Given the description of an element on the screen output the (x, y) to click on. 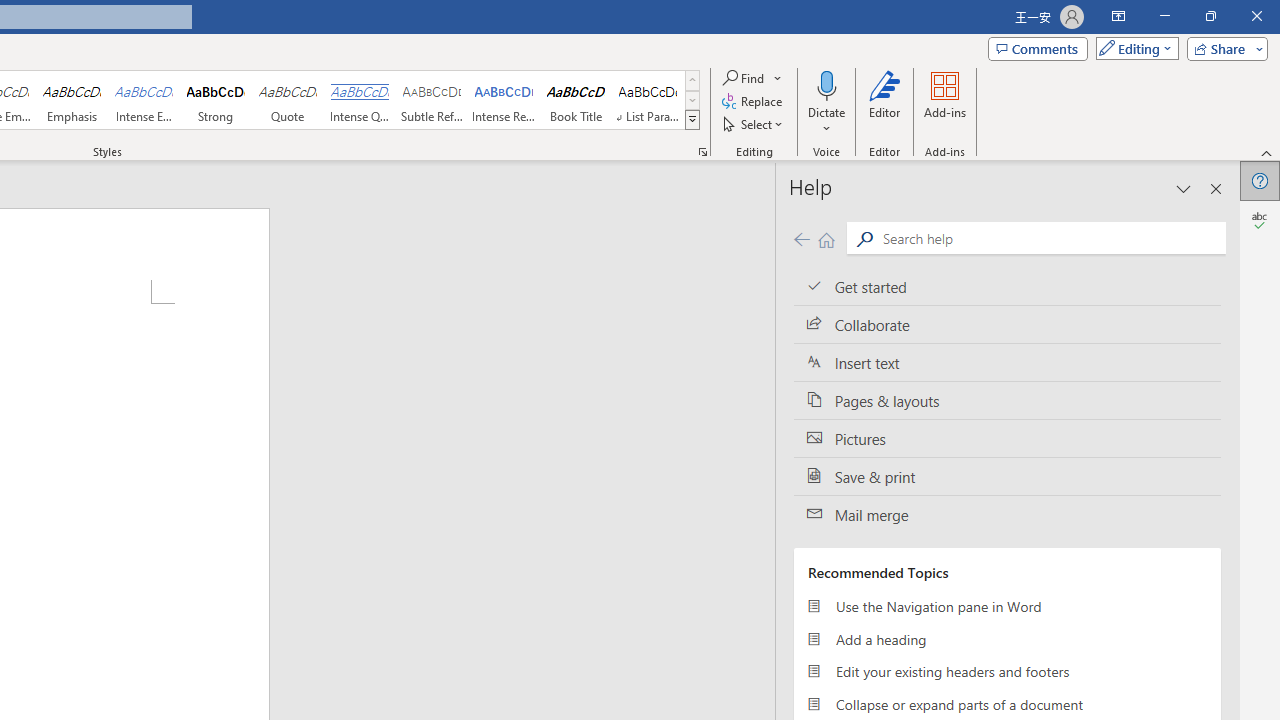
Quote (287, 100)
Collaborate (1007, 325)
Previous page (801, 238)
Mode (1133, 47)
Mail merge (1007, 515)
Pictures (1007, 438)
Pages & layouts (1007, 400)
Editor (885, 102)
Edit your existing headers and footers (1007, 672)
Styles (692, 120)
